Given the description of an element on the screen output the (x, y) to click on. 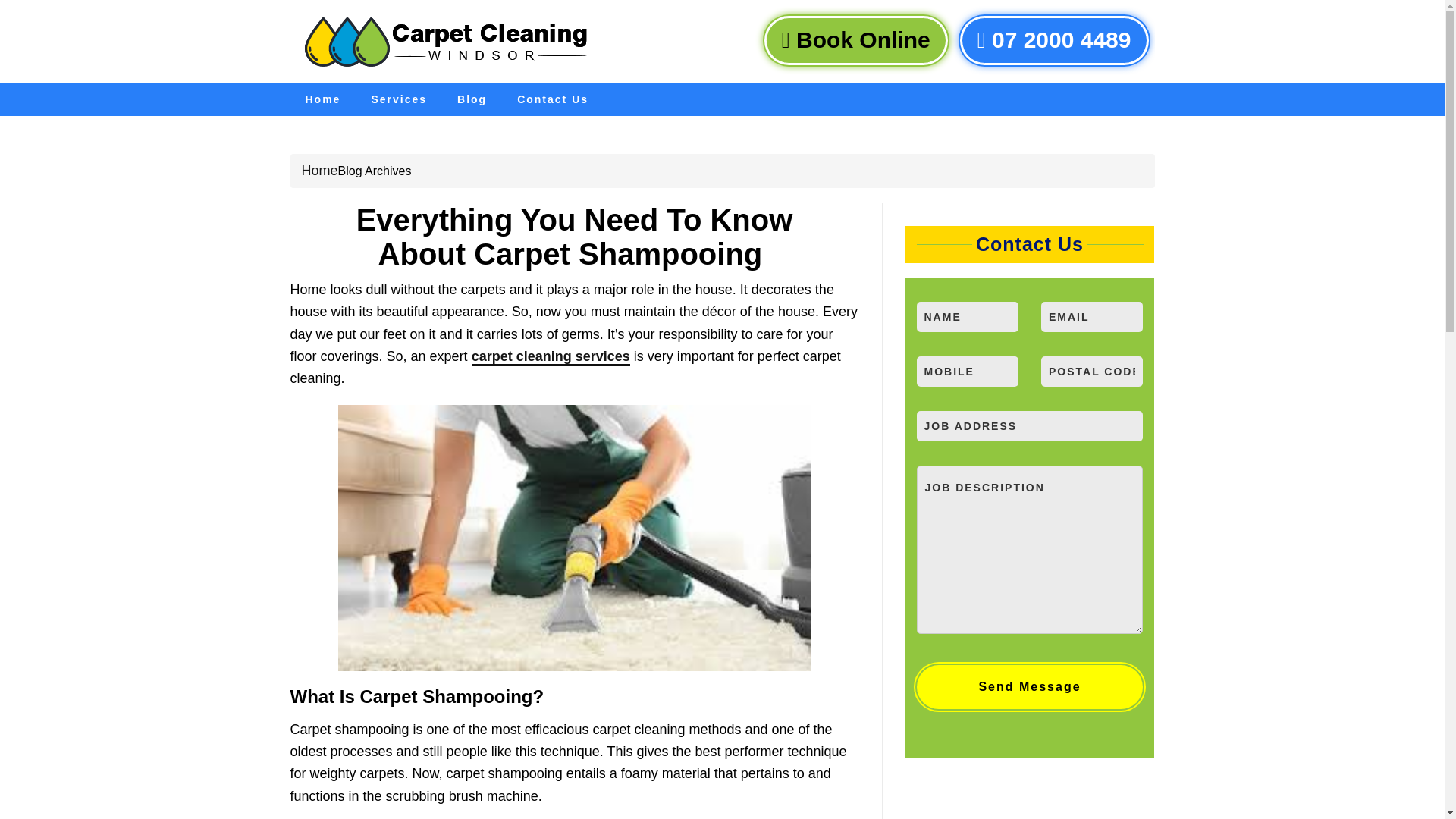
Book Online (855, 40)
07 2000 4489 (1053, 40)
Home (319, 170)
carpet cleaning services (550, 356)
Services (398, 99)
Home (322, 99)
Contact Us (553, 99)
Send Message (1028, 687)
Blog (472, 99)
Send Message (1028, 687)
